Given the description of an element on the screen output the (x, y) to click on. 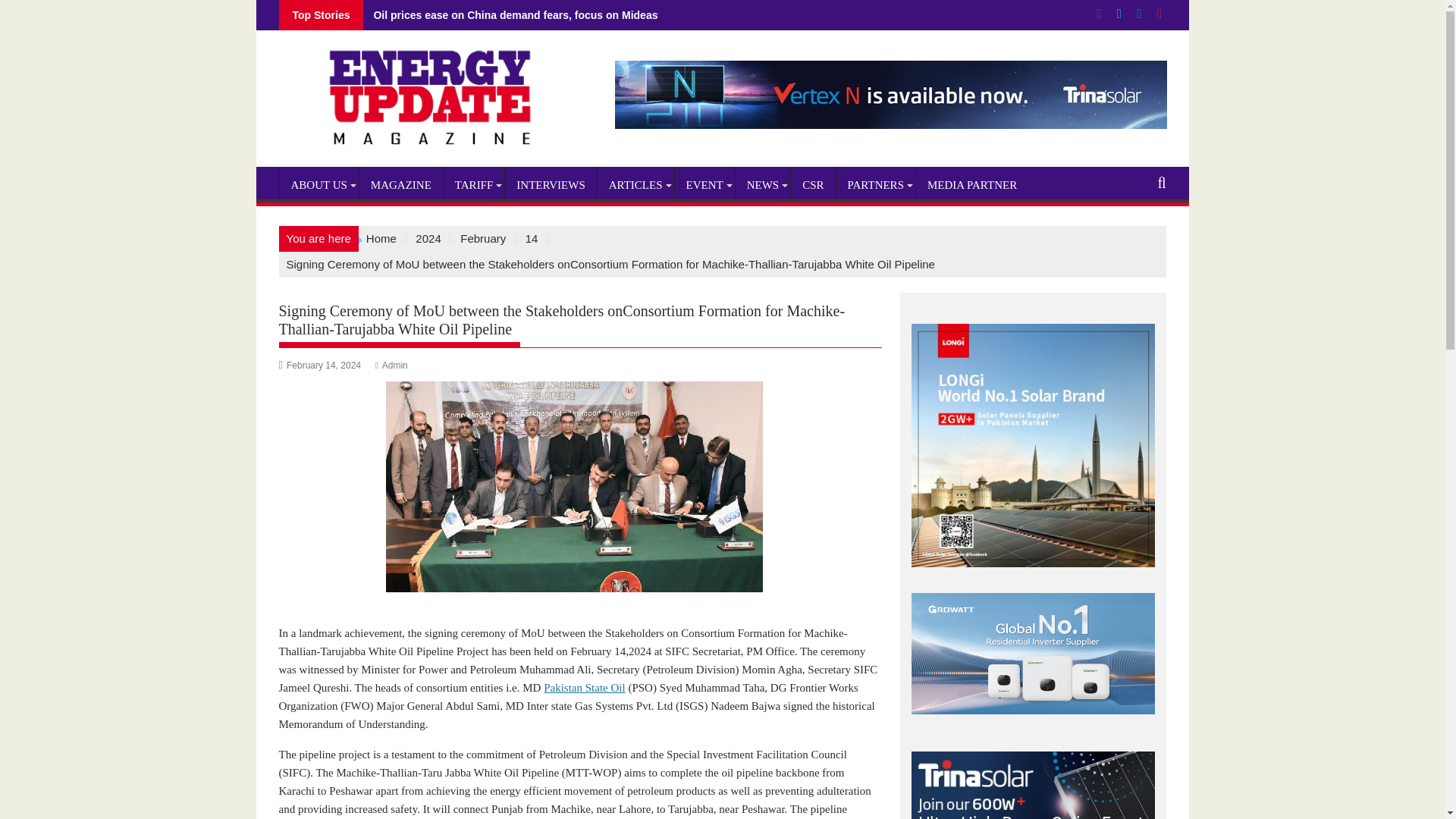
INTERVIEWS (550, 185)
PARTNERS (875, 185)
ABOUT US (318, 185)
CSR (812, 185)
TARIFF (473, 185)
ARTICLES (635, 185)
NEWS (762, 185)
MAGAZINE (400, 185)
EVENT (705, 185)
